Given the description of an element on the screen output the (x, y) to click on. 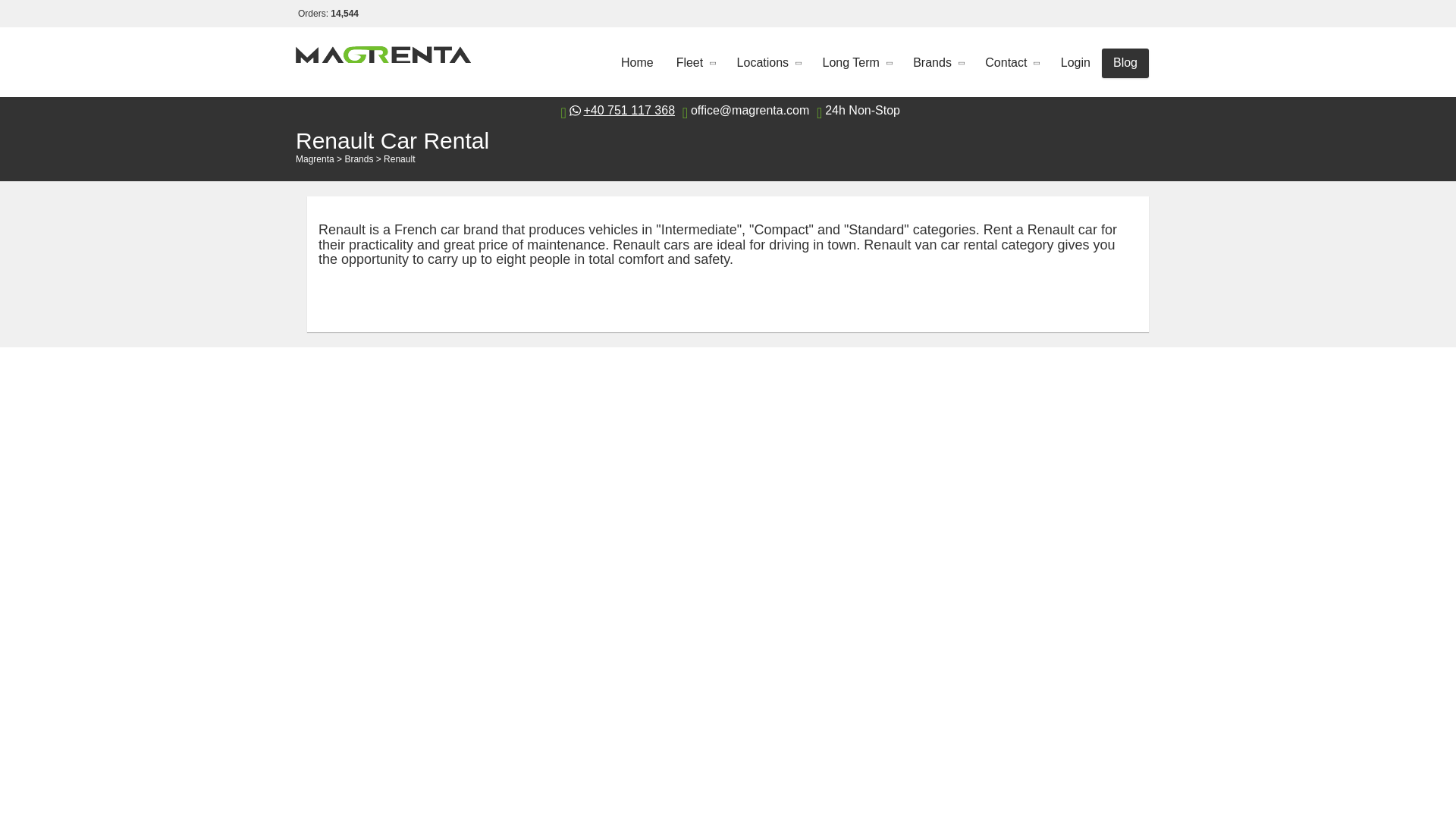
Fleet (695, 62)
Brands (937, 62)
Home (637, 62)
Locations (767, 62)
Magrenta logo (383, 60)
Long Term (855, 62)
